Given the description of an element on the screen output the (x, y) to click on. 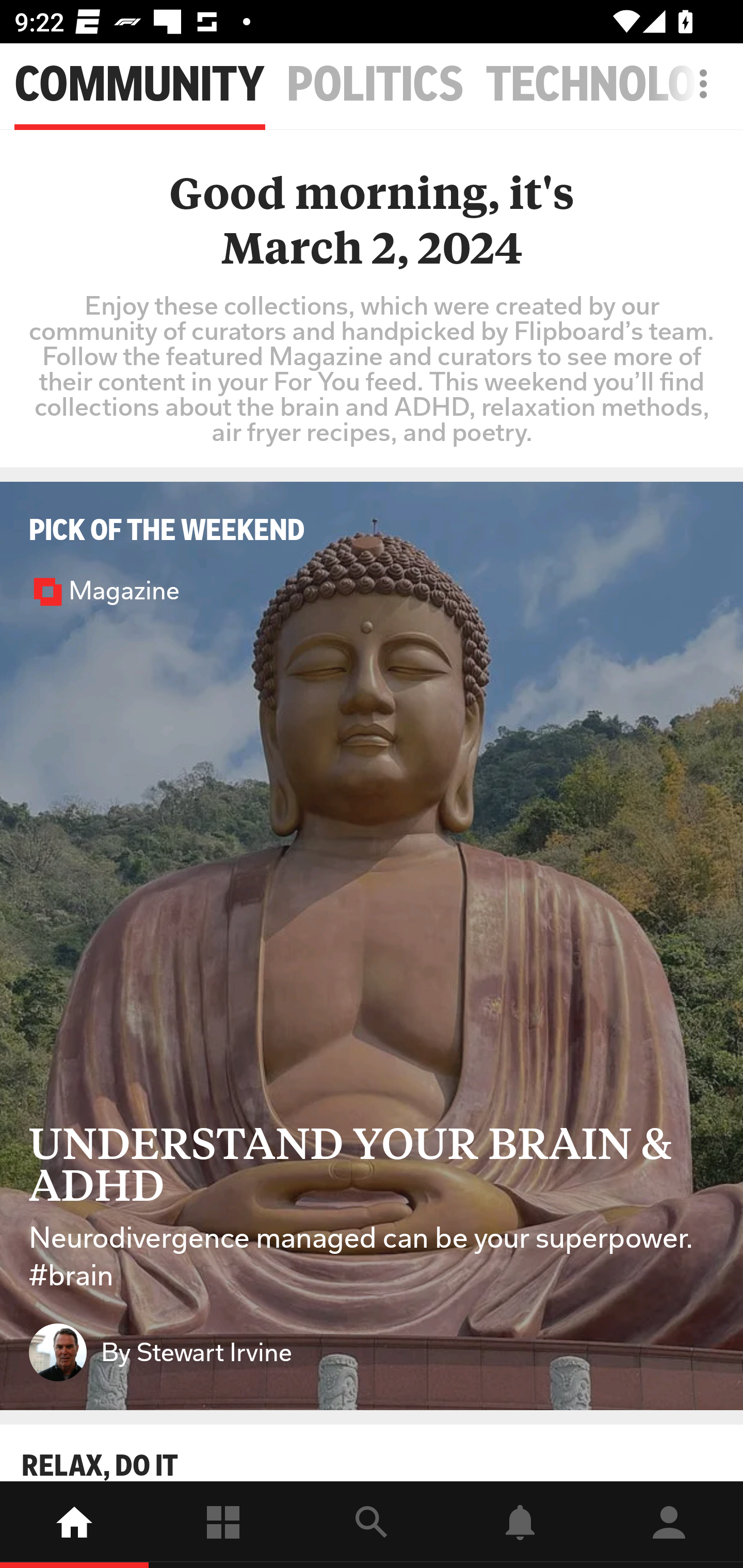
COMMUNITY (139, 84)
POLITICS (375, 84)
TECHNOLOGY (614, 84)
Edit Home (697, 83)
home (74, 1524)
Following (222, 1524)
explore (371, 1524)
Notifications (519, 1524)
Profile (668, 1524)
